Given the description of an element on the screen output the (x, y) to click on. 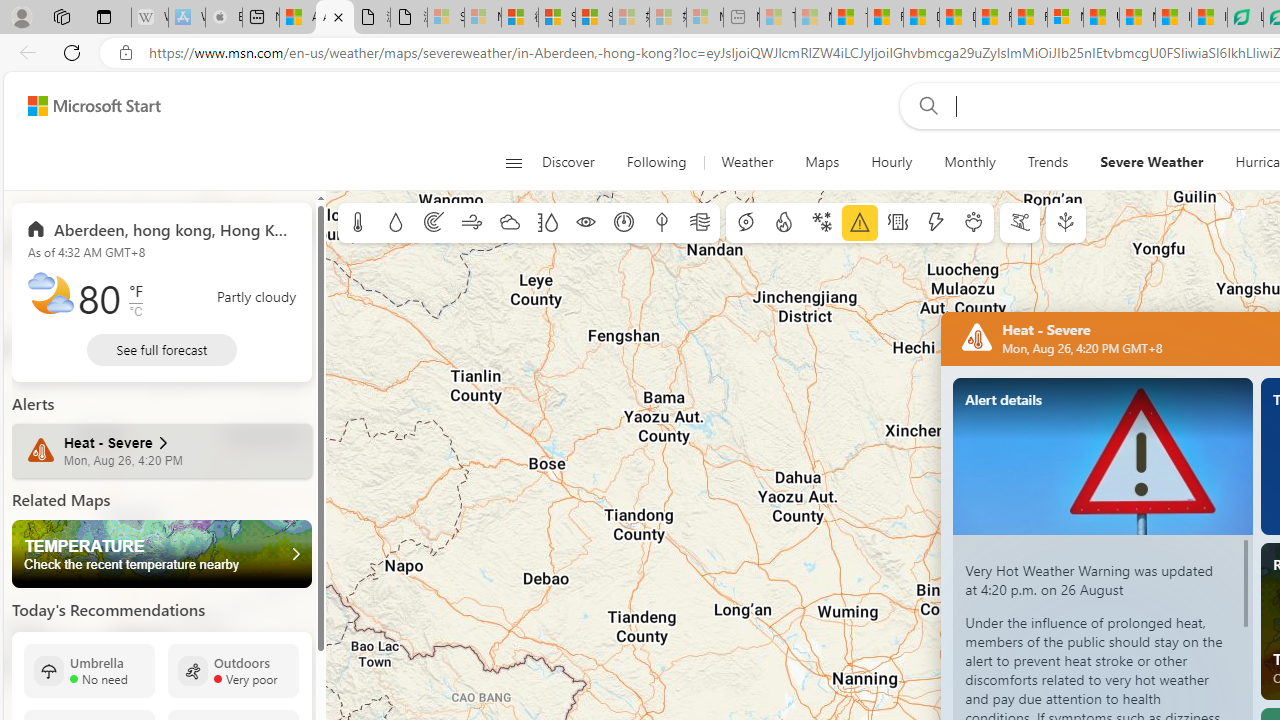
Clouds (509, 223)
Precipitation (395, 223)
Web search (924, 105)
